Given the description of an element on the screen output the (x, y) to click on. 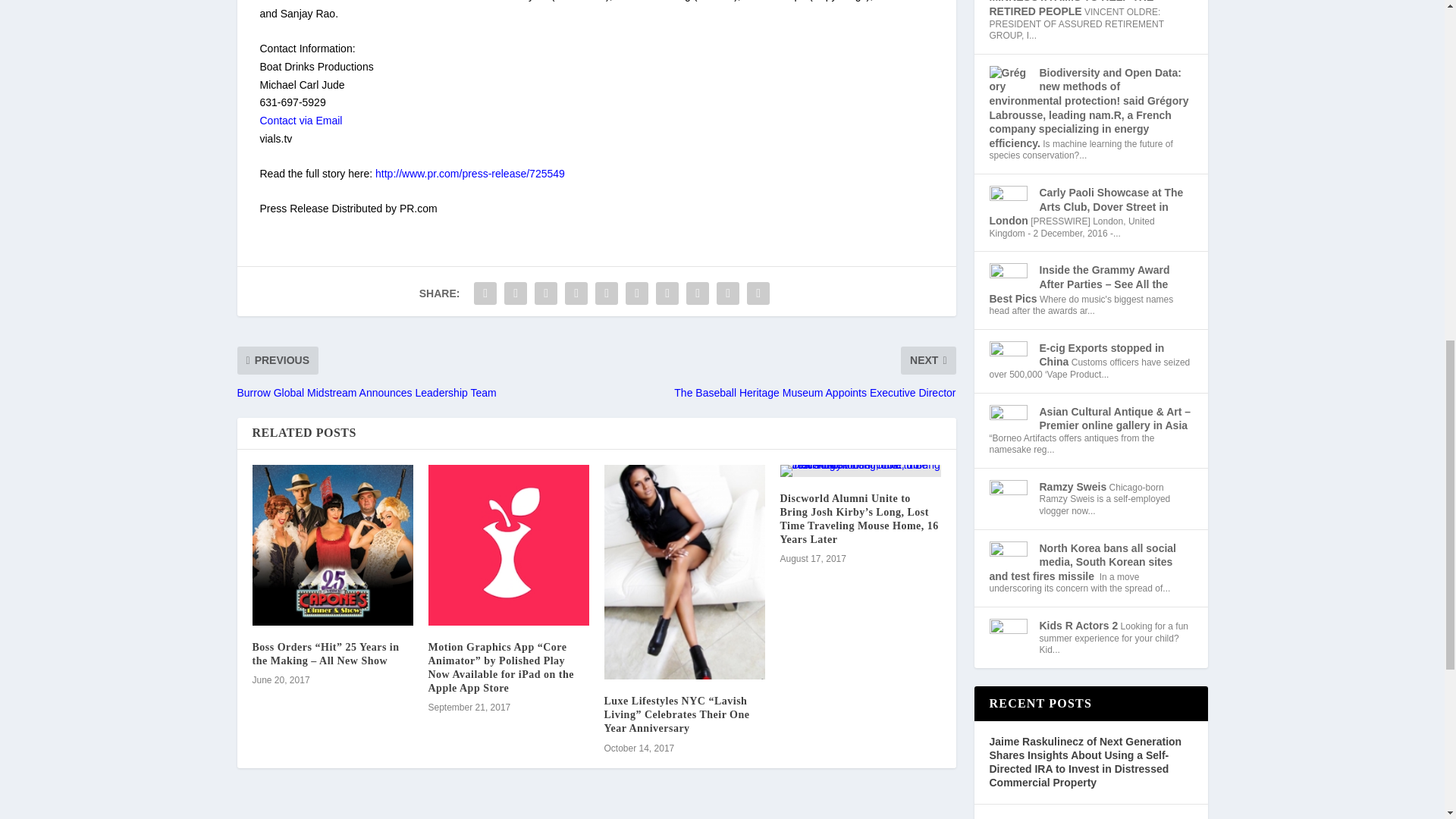
Contact via Email (300, 120)
